Given the description of an element on the screen output the (x, y) to click on. 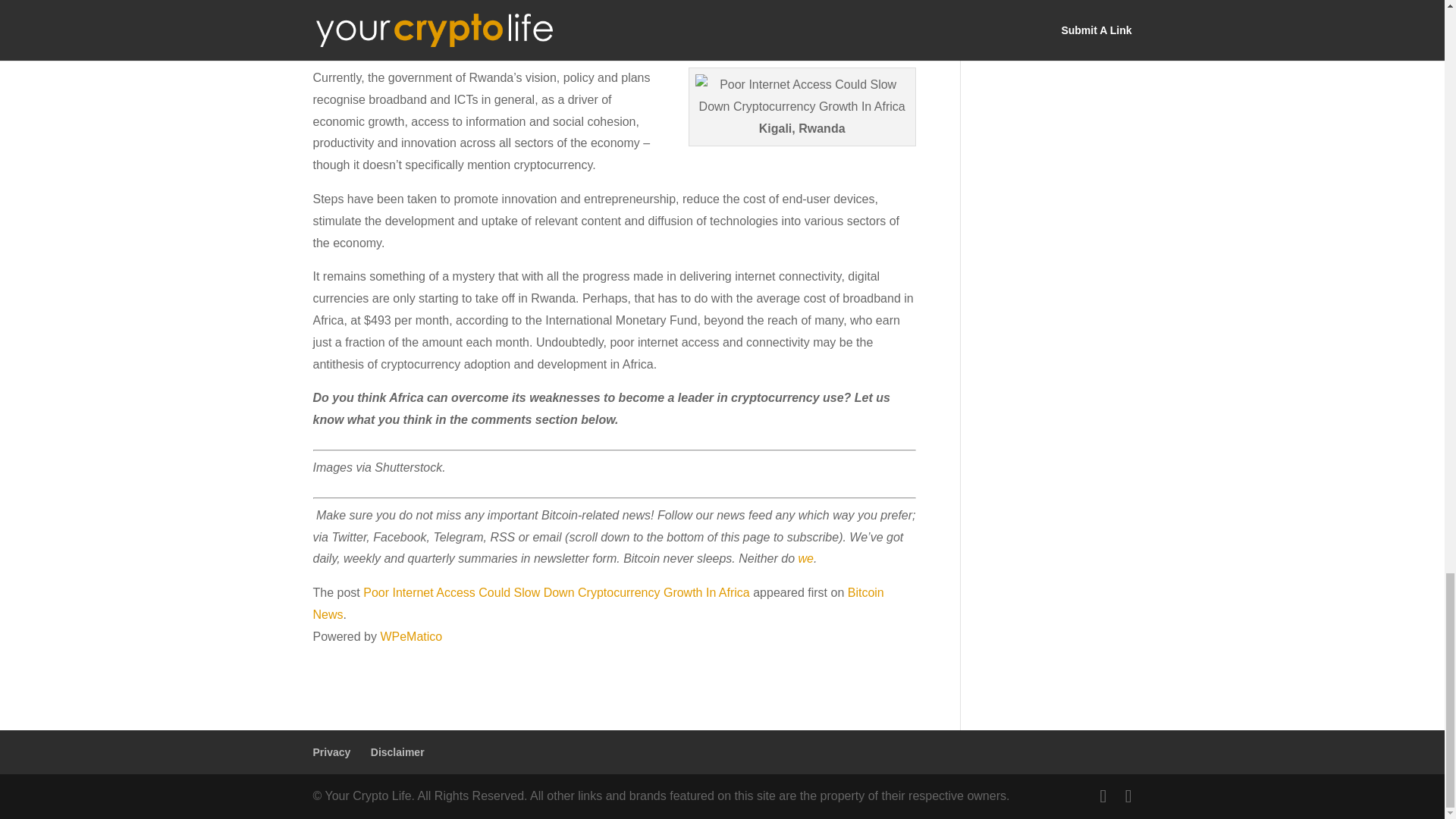
Privacy (331, 752)
Bitcoin News (598, 603)
WPeMatico (411, 635)
 we (803, 558)
Disclaimer (398, 752)
